Given the description of an element on the screen output the (x, y) to click on. 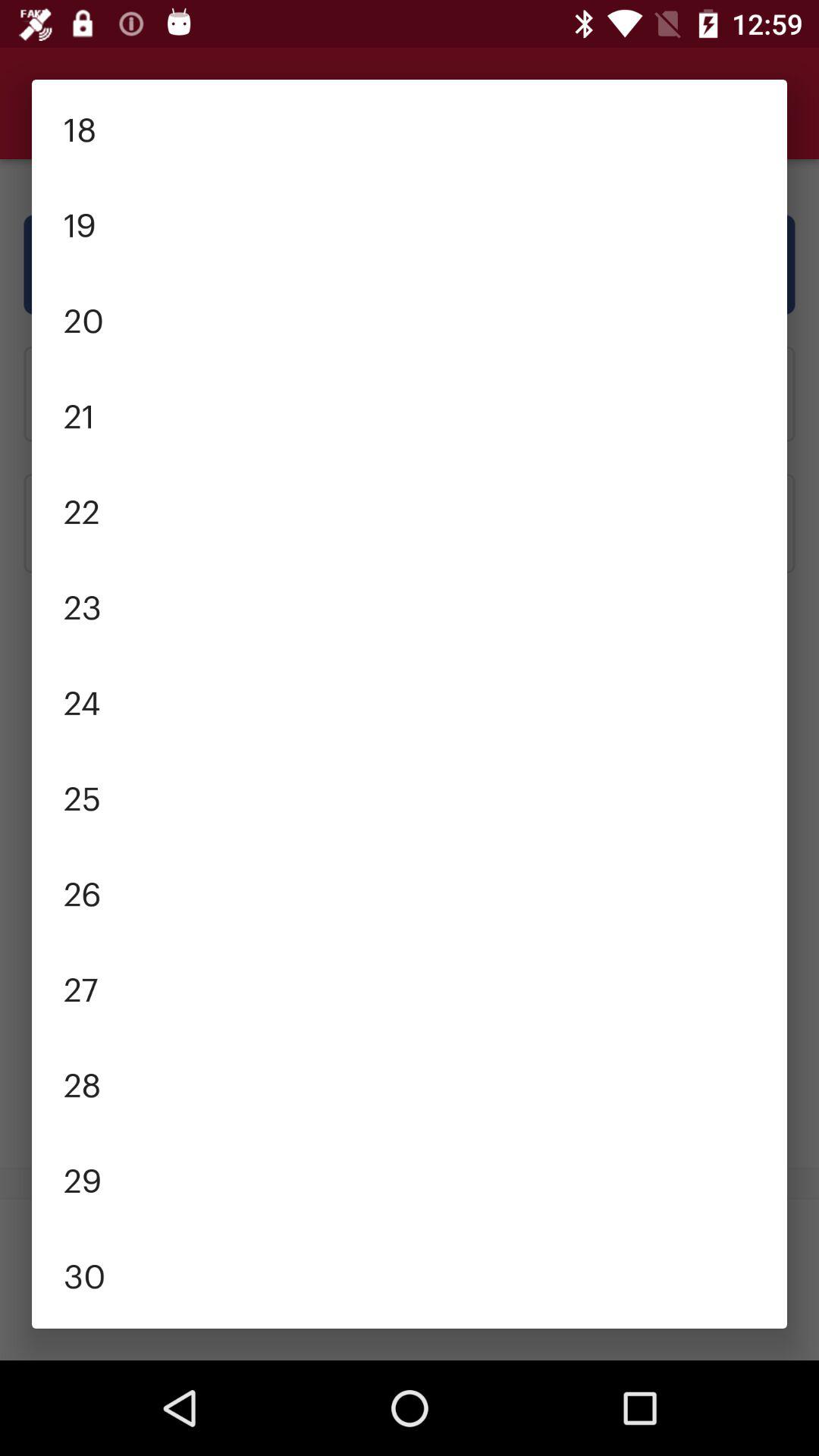
choose 30 item (409, 1273)
